Given the description of an element on the screen output the (x, y) to click on. 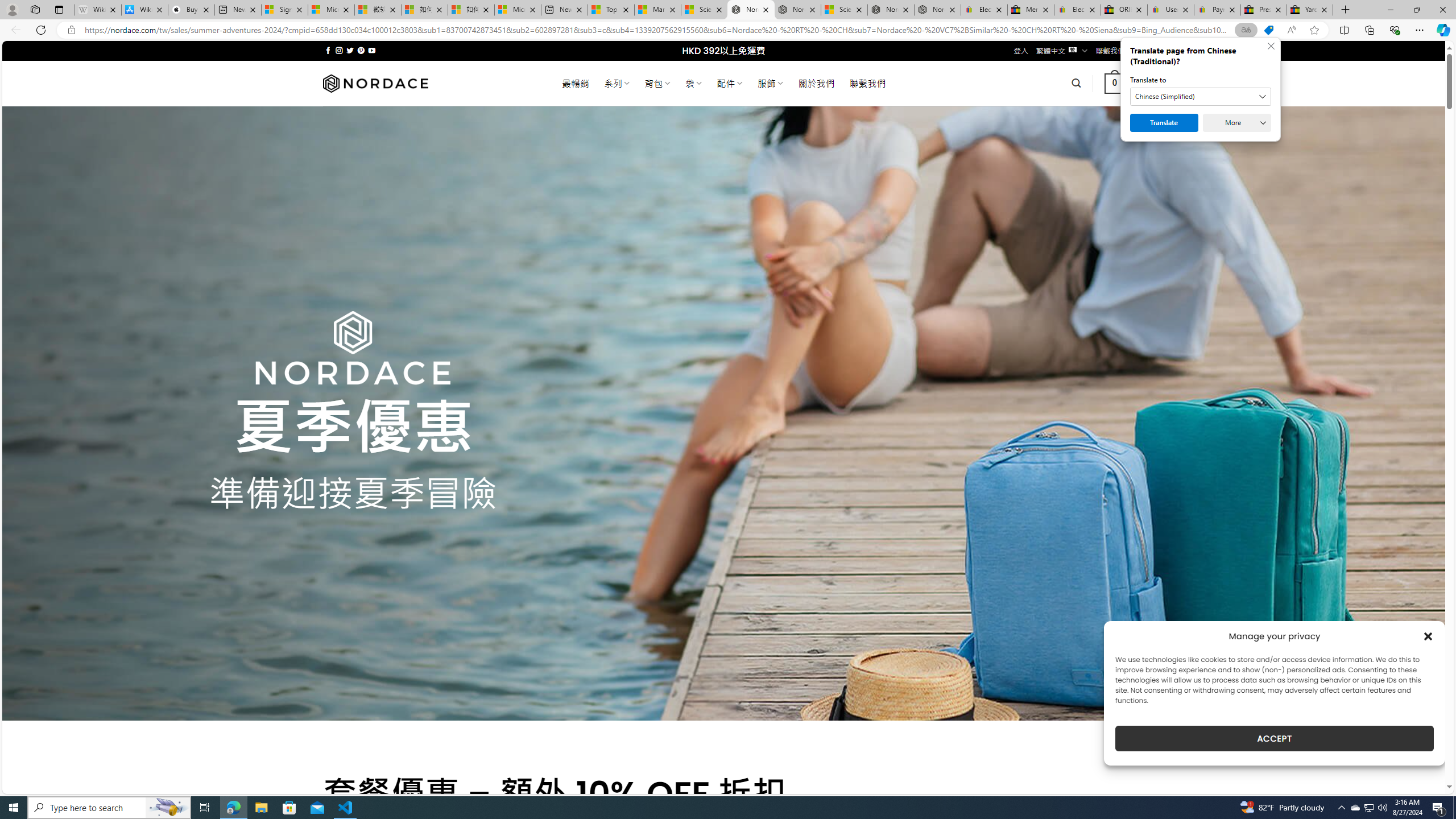
Back (13, 29)
ACCEPT (1274, 738)
Follow on Pinterest (360, 50)
Minimize (1390, 9)
Translate (1163, 122)
Show translate options (1245, 29)
  0   (1115, 83)
Nordace - Summer Adventures 2024 (890, 9)
